Given the description of an element on the screen output the (x, y) to click on. 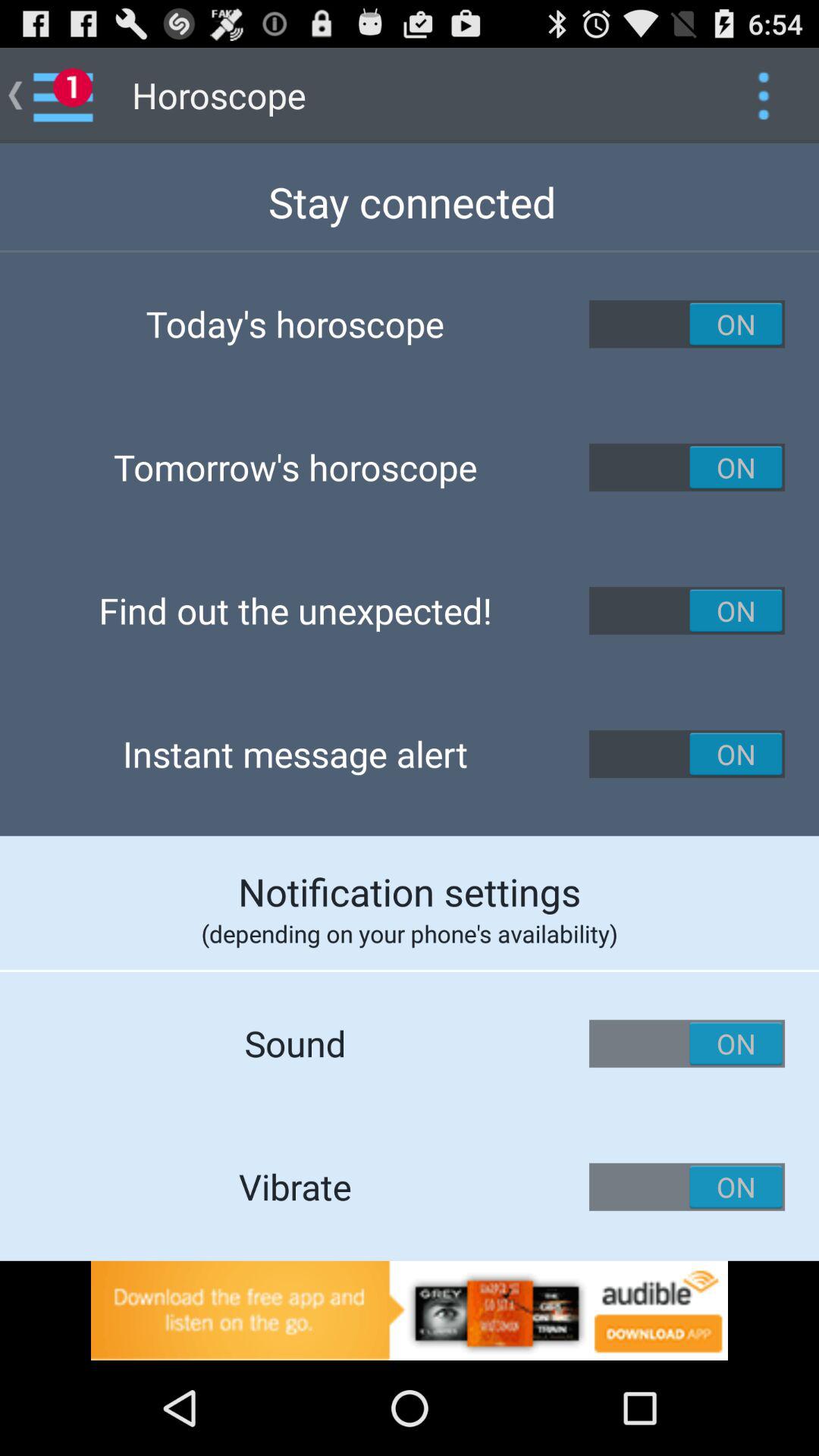
on button (686, 610)
